Given the description of an element on the screen output the (x, y) to click on. 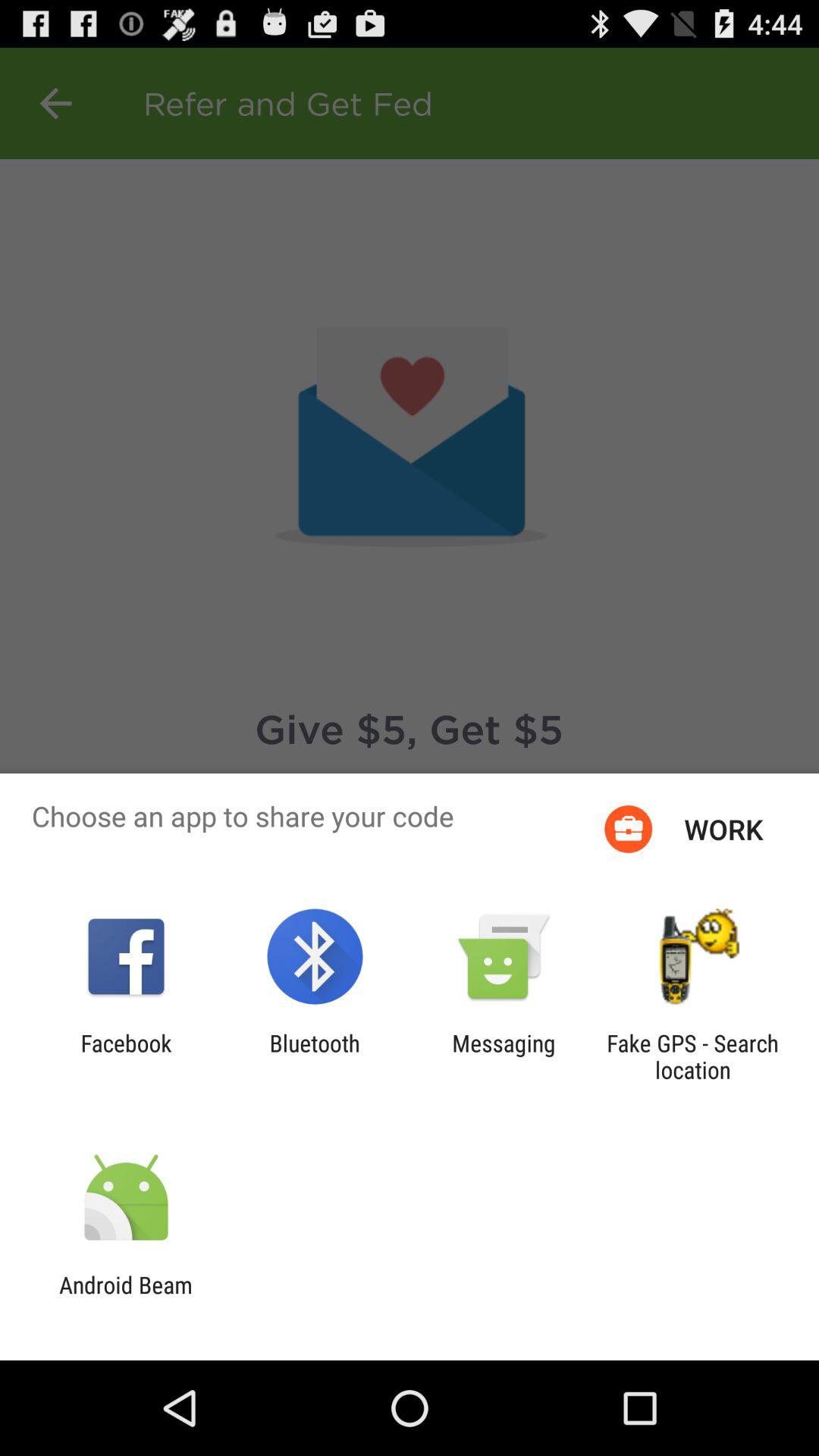
press the icon at the bottom right corner (692, 1056)
